Given the description of an element on the screen output the (x, y) to click on. 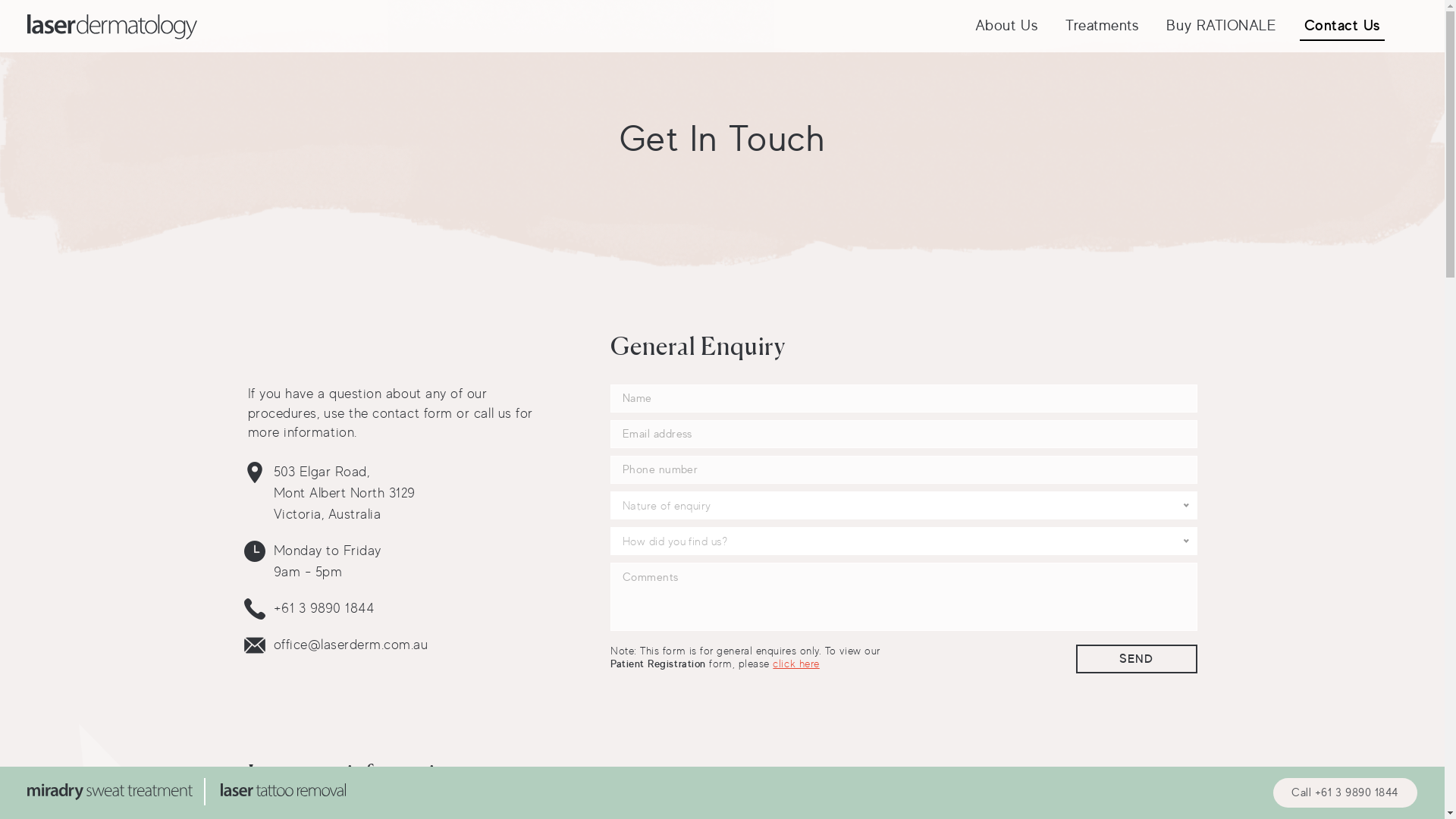
About Us Element type: text (1006, 25)
503 Elgar Road,
Mont Albert North 3129
Victoria, Australia Element type: text (343, 492)
Contact Us Element type: text (1341, 25)
SEND Element type: text (1135, 658)
Tattoo Laser Dermatology Element type: hover (282, 792)
Buy RATIONALE Element type: text (1220, 25)
click here Element type: text (795, 663)
+61 3 9890 1844 Element type: text (323, 607)
Laser Element type: text (112, 27)
Treatments Element type: text (1101, 25)
Call +61 3 9890 1844 Element type: text (1345, 792)
miraDry Laser Dermatology Element type: hover (121, 792)
office@laserderm.com.au Element type: text (350, 644)
